Given the description of an element on the screen output the (x, y) to click on. 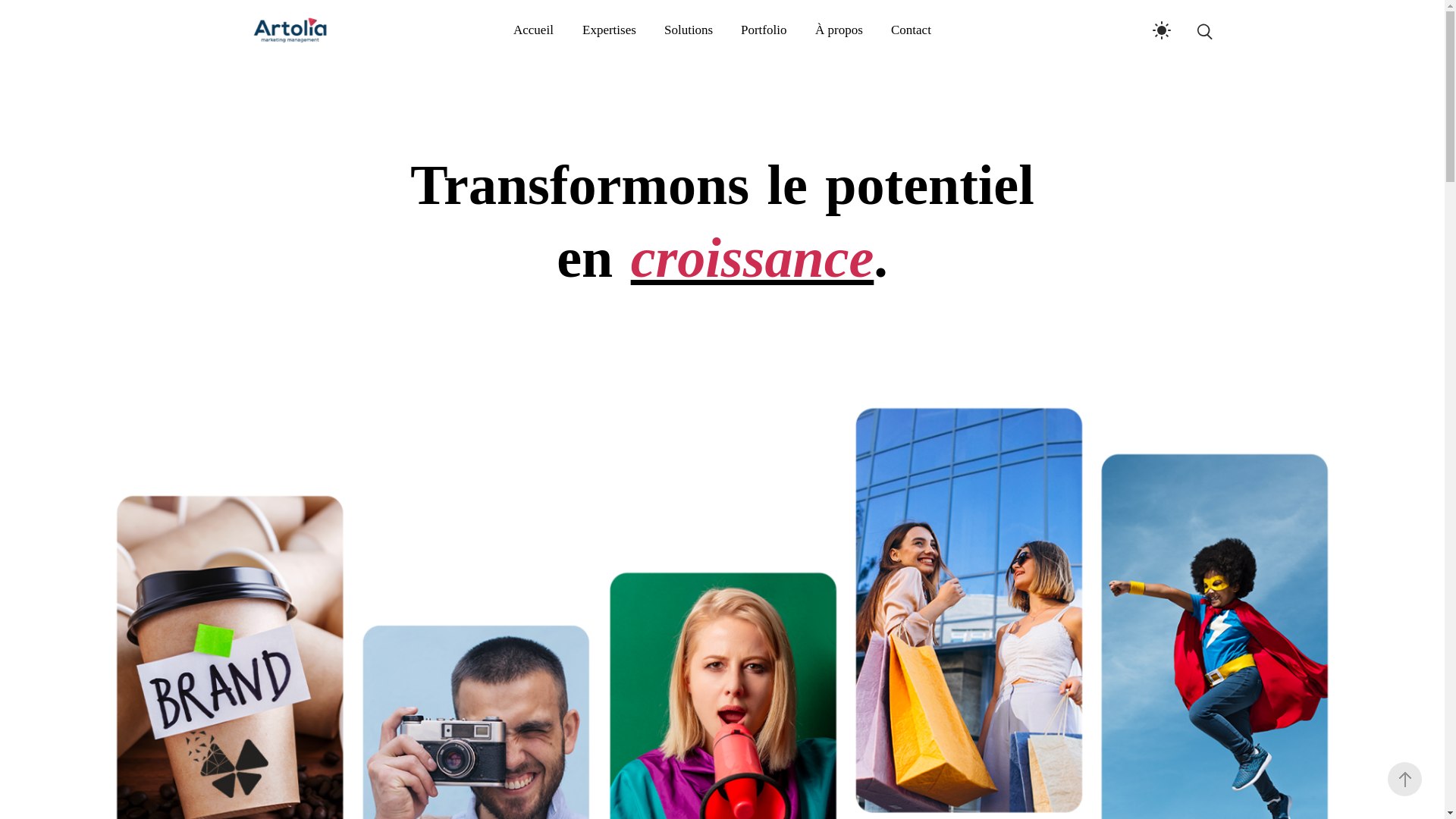
Contact Element type: text (903, 30)
Accueil Element type: text (540, 30)
Solutions Element type: text (687, 30)
Expertises Element type: text (608, 30)
Portfolio Element type: text (763, 30)
